Given the description of an element on the screen output the (x, y) to click on. 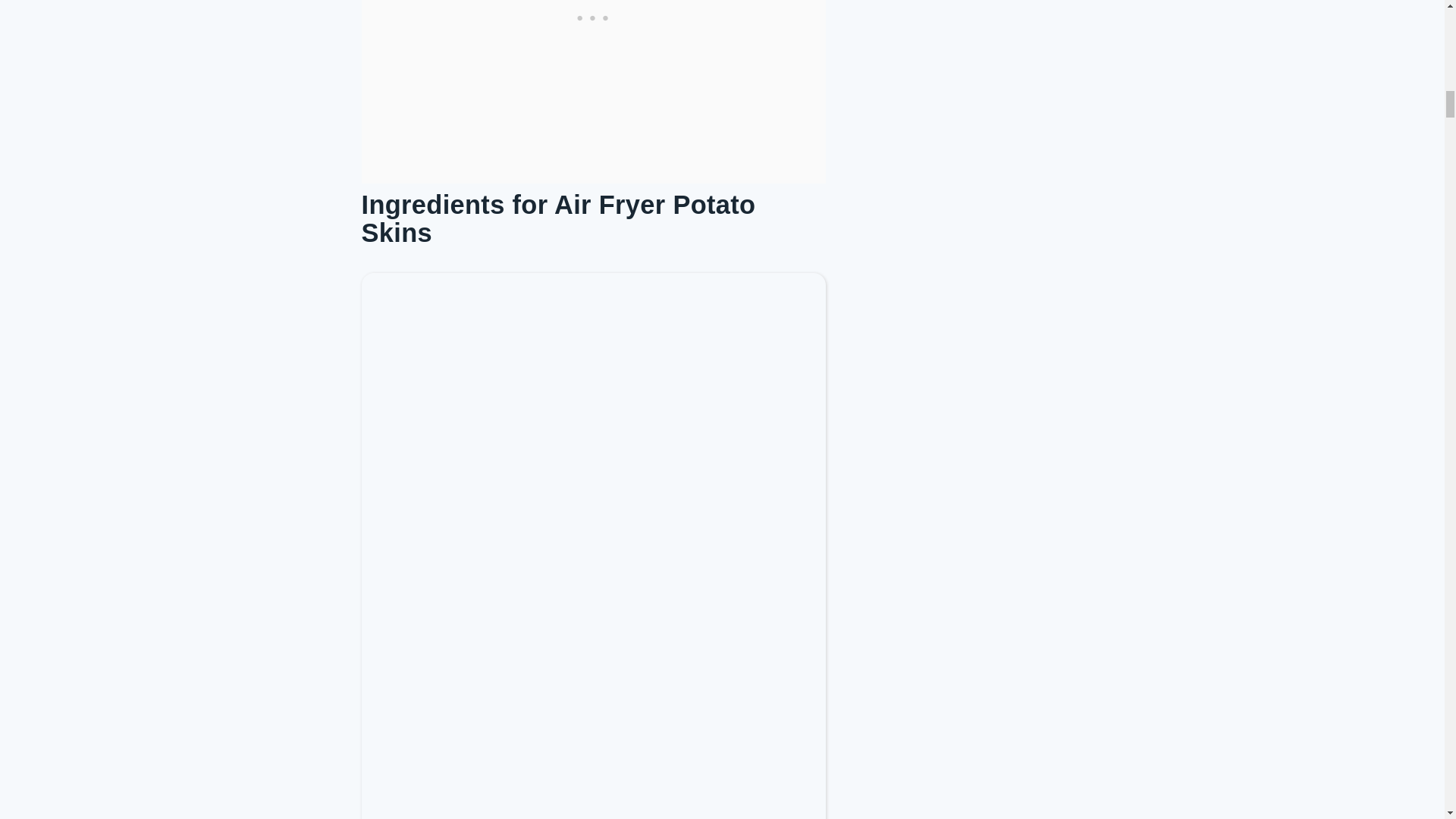
Ingredients for potato skins air fryer recipe (593, 626)
